Given the description of an element on the screen output the (x, y) to click on. 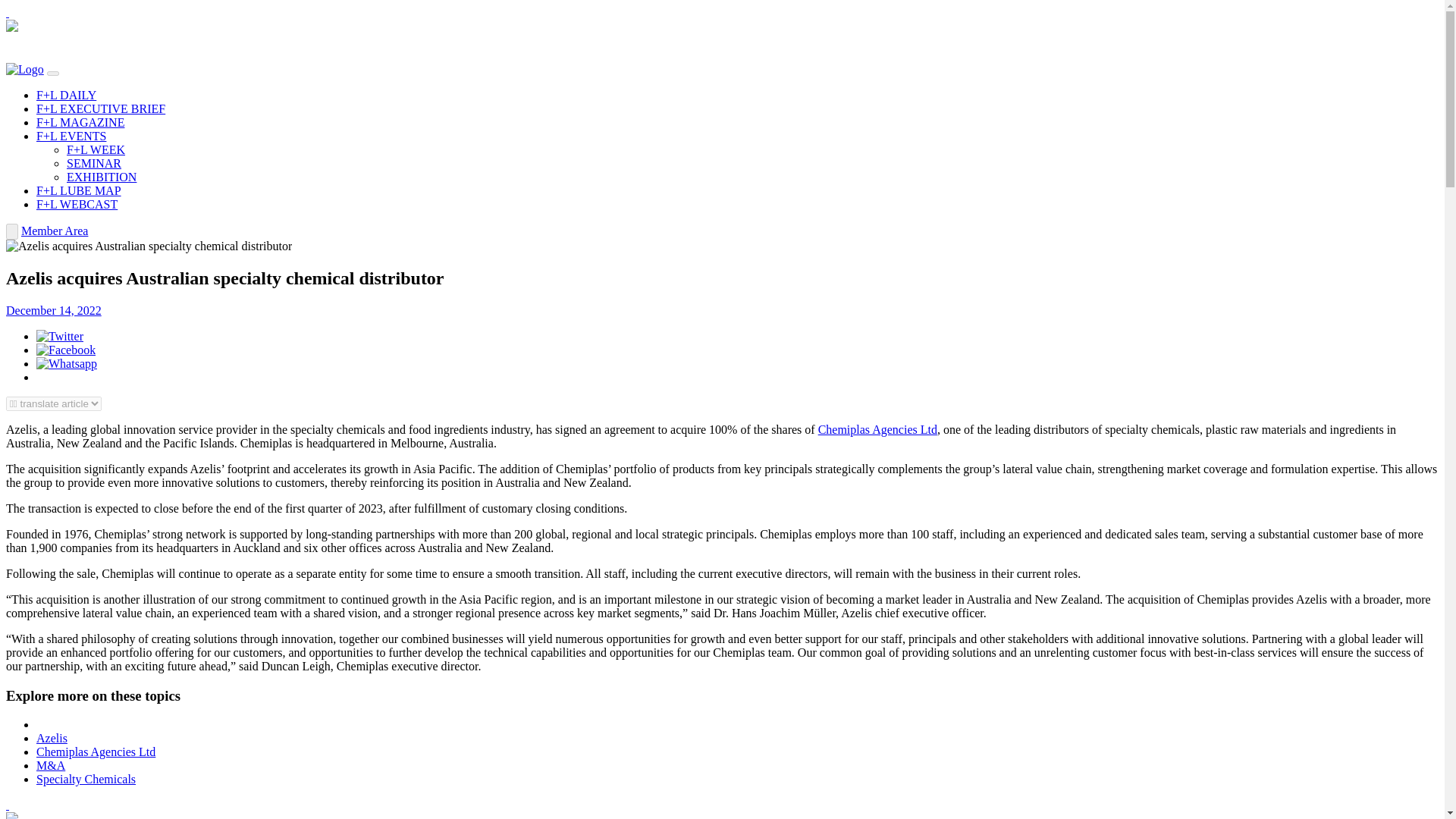
Chemiplas Agencies Ltd (95, 751)
Chemiplas Agencies Ltd (877, 429)
Member Area (54, 230)
December 14, 2022 (53, 309)
EXHIBITION (101, 176)
Azelis (51, 738)
Specialty Chemicals (85, 779)
SEMINAR (93, 163)
